Given the description of an element on the screen output the (x, y) to click on. 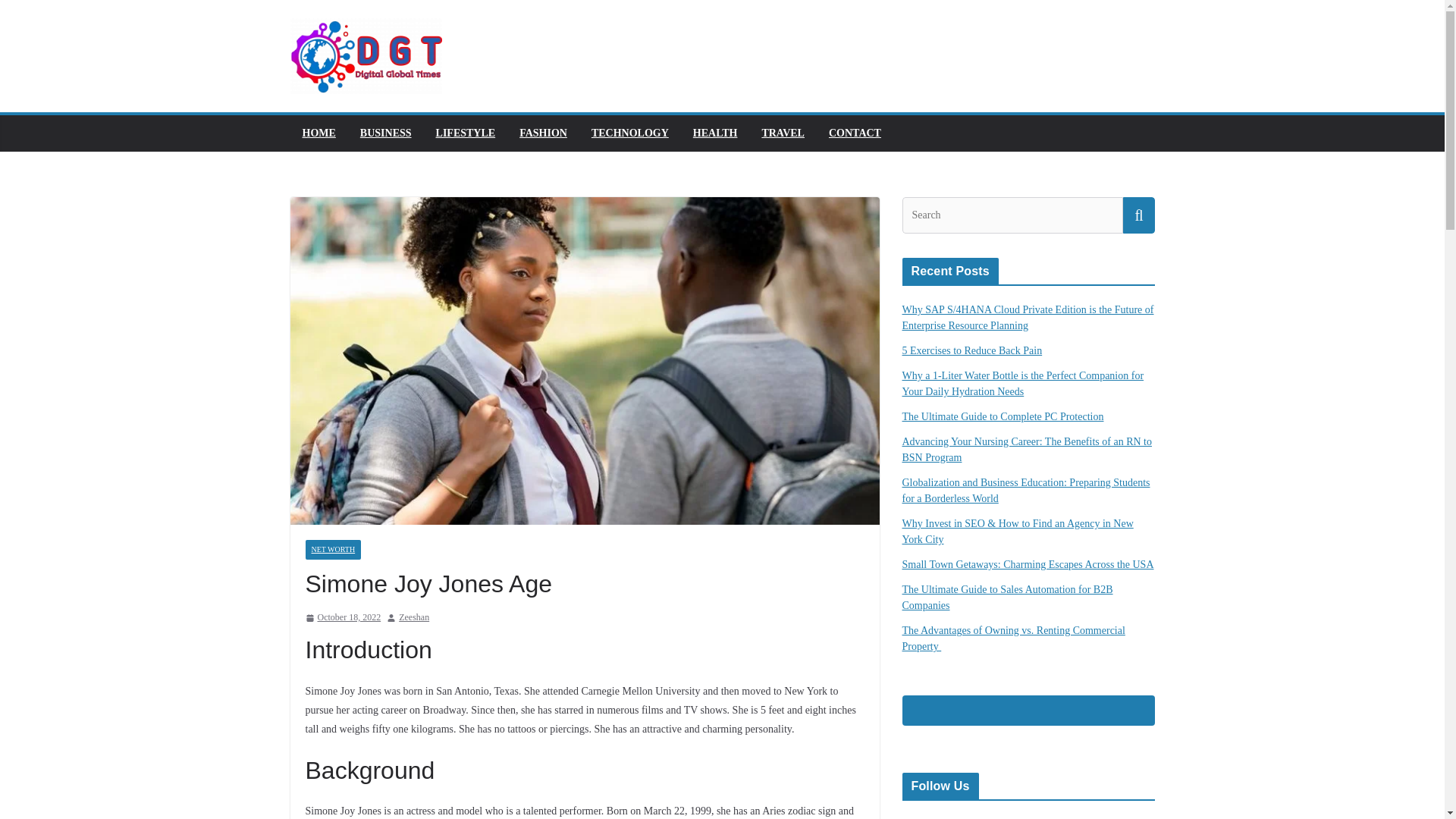
The Ultimate Guide to Complete PC Protection (1002, 416)
CONTACT (854, 133)
FASHION (543, 133)
5 Exercises to Reduce Back Pain (972, 350)
October 18, 2022 (342, 617)
HOME (317, 133)
Small Town Getaways: Charming Escapes Across the USA (1028, 564)
TECHNOLOGY (629, 133)
Zeeshan (413, 617)
HEALTH (715, 133)
